Given the description of an element on the screen output the (x, y) to click on. 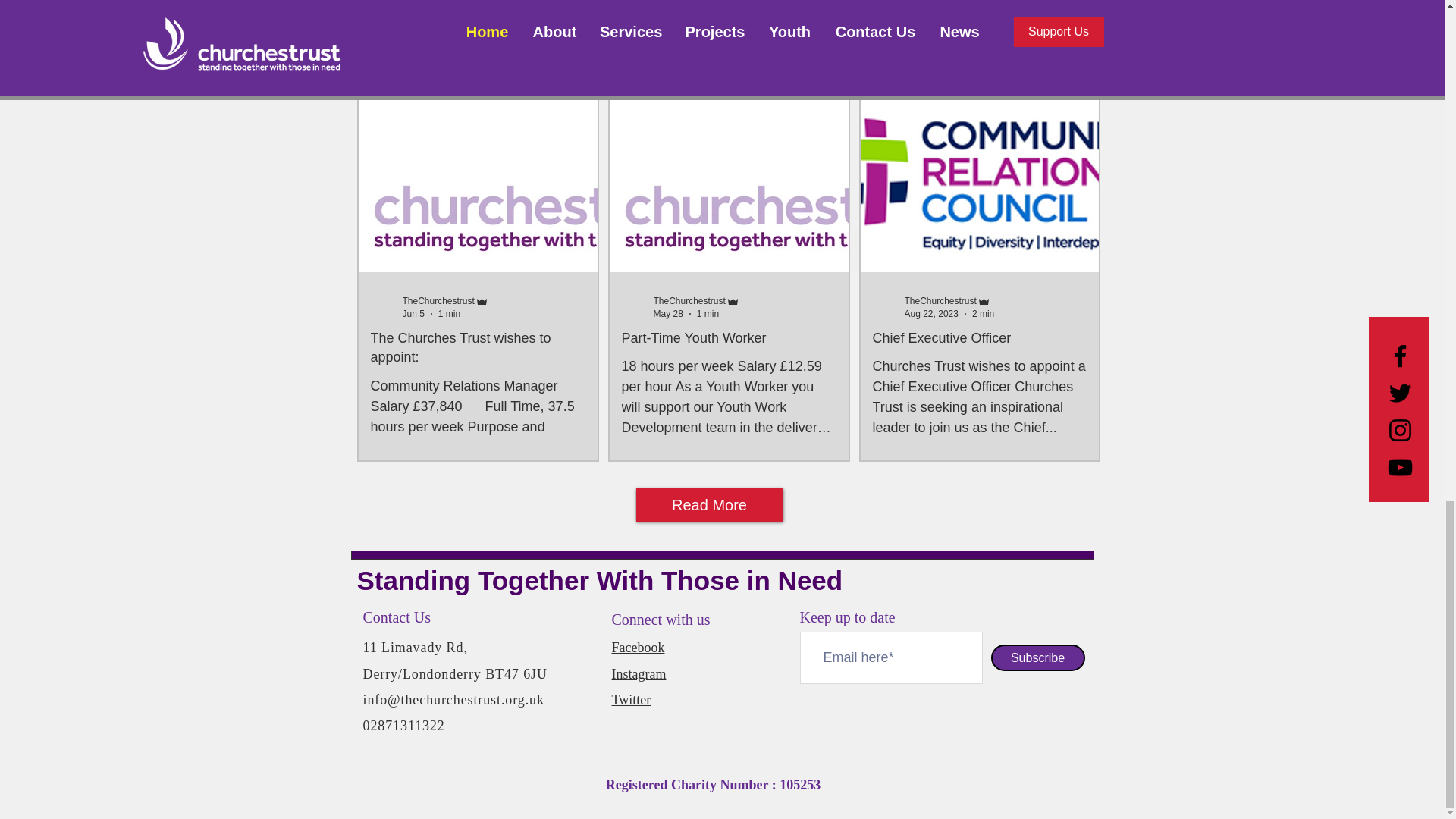
TheChurchestrust (689, 300)
1 min (708, 313)
TheChurchestrust (939, 300)
May 28 (667, 313)
2 min (983, 313)
TheChurchestrust (437, 300)
Aug 22, 2023 (931, 313)
1 min (449, 313)
Jun 5 (412, 313)
